Given the description of an element on the screen output the (x, y) to click on. 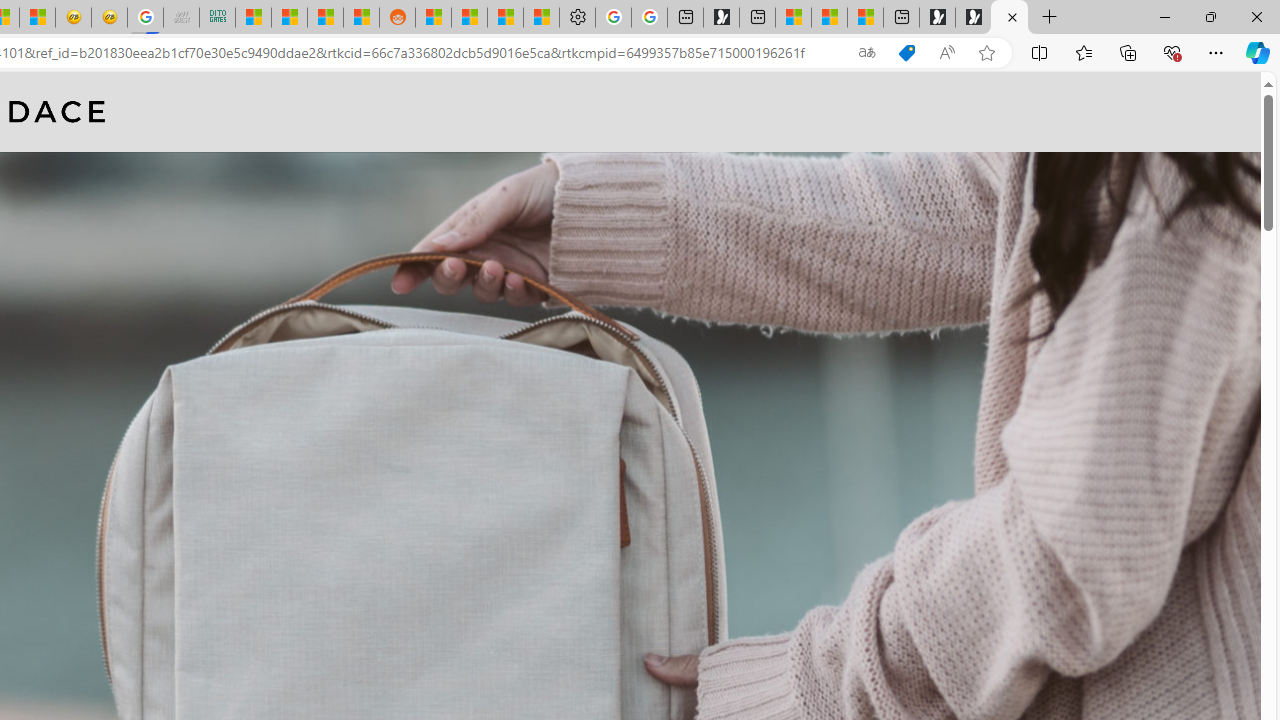
These 3 Stocks Pay You More Than 5% to Own Them (865, 17)
R******* | Trusted Community Engagement and Contributions (433, 17)
